Given the description of an element on the screen output the (x, y) to click on. 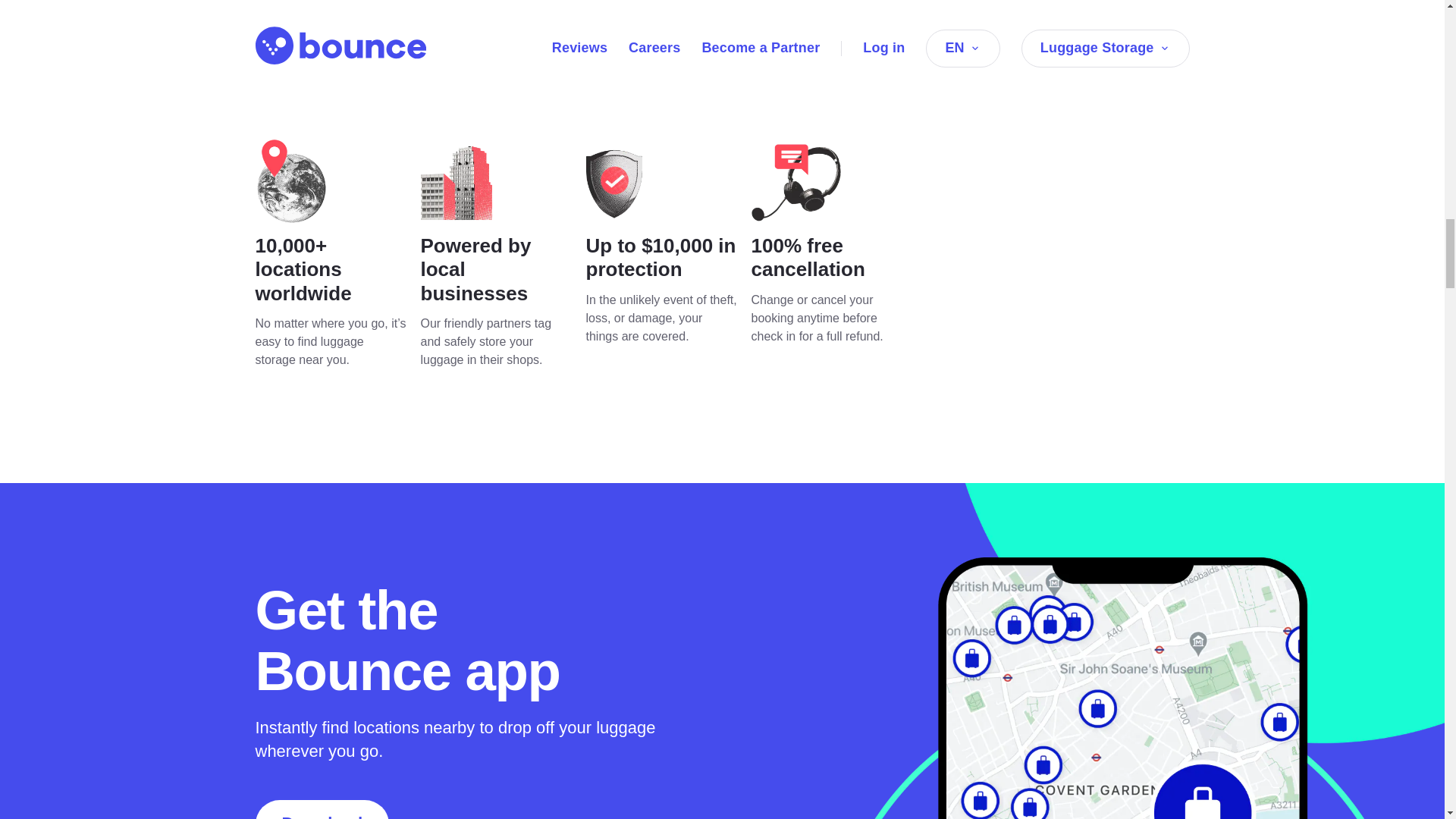
Download (321, 809)
